Given the description of an element on the screen output the (x, y) to click on. 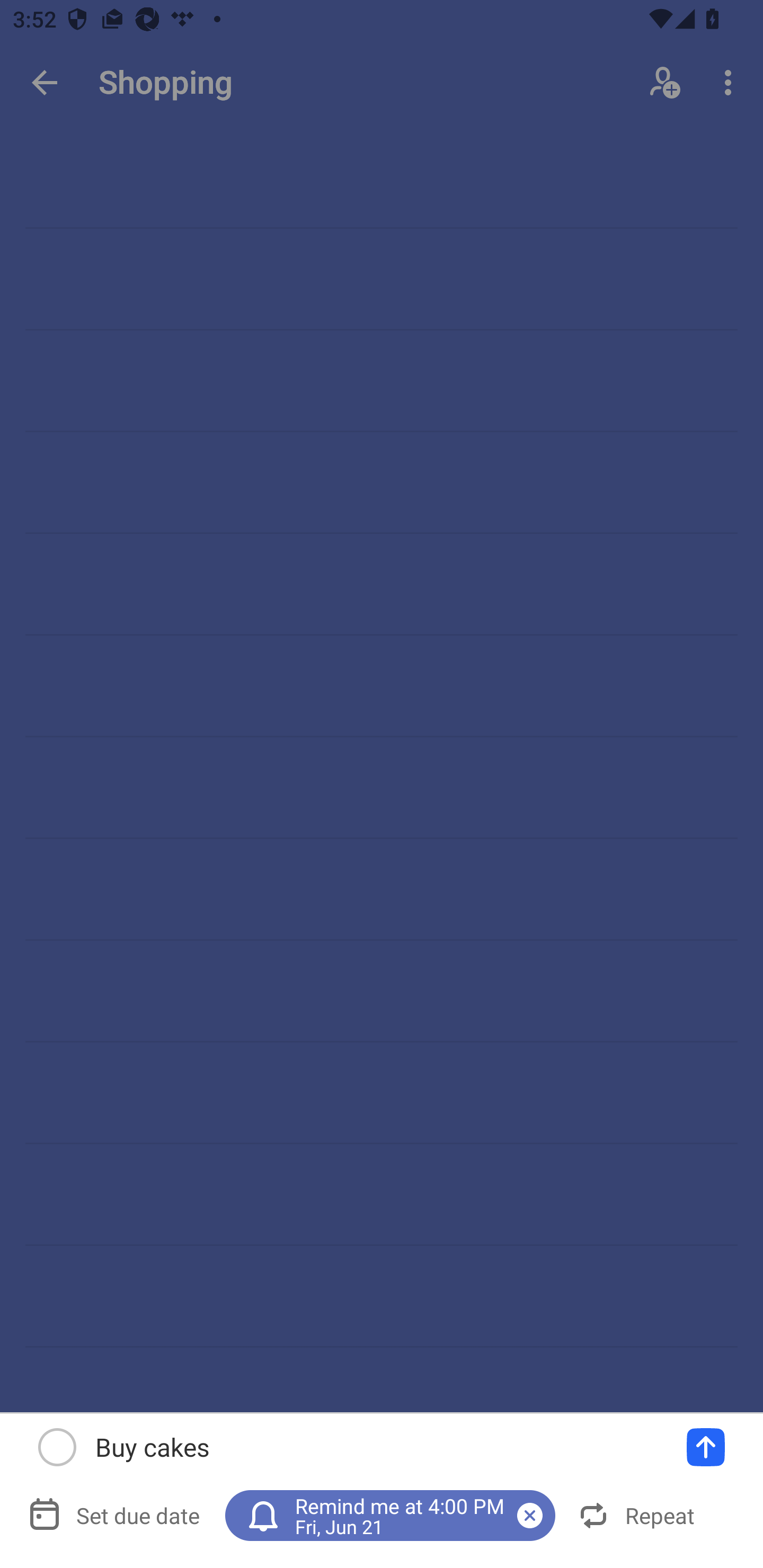
Add a task (705, 1446)
